Given the description of an element on the screen output the (x, y) to click on. 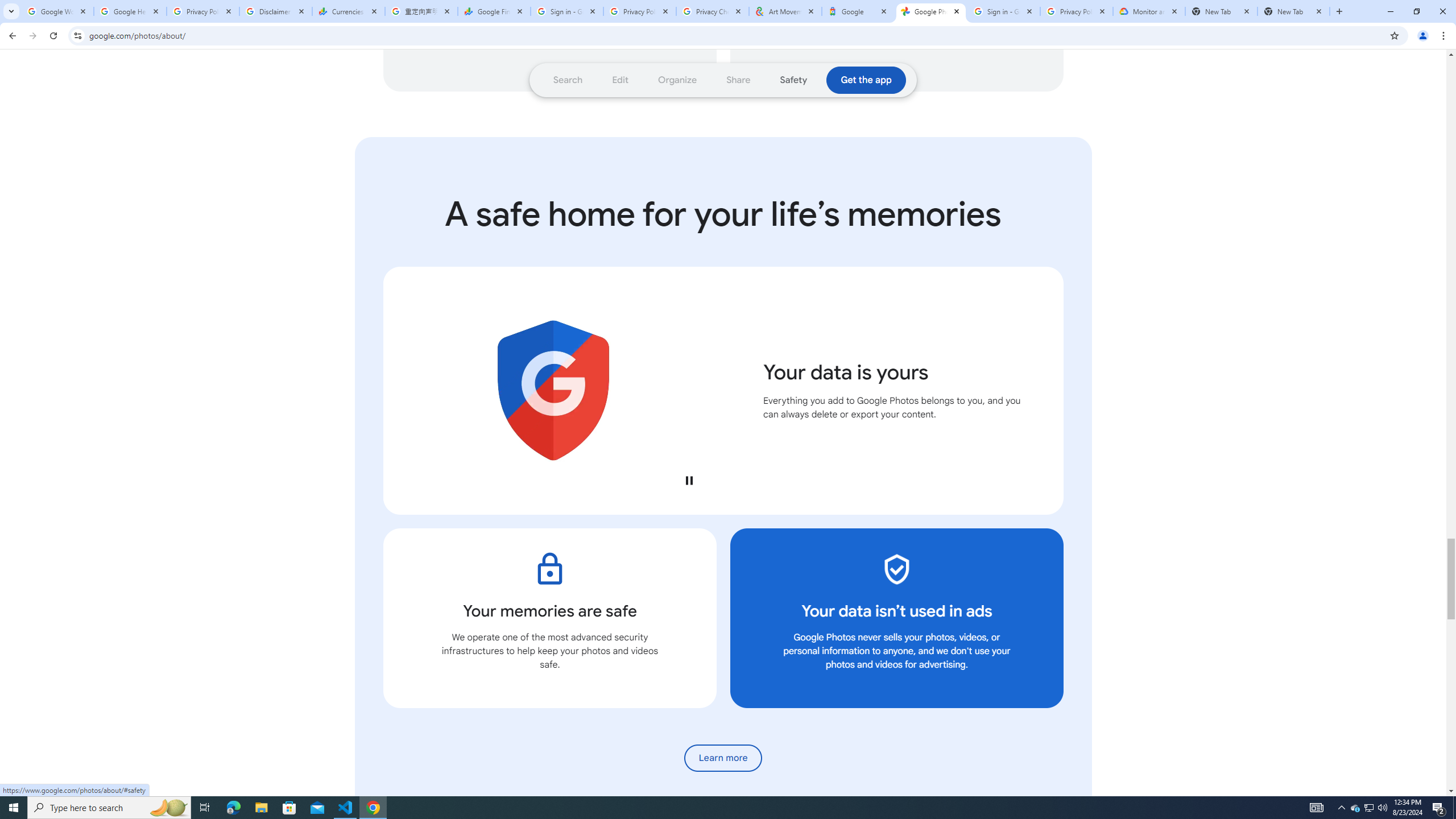
Padlock icon indicating security.  (549, 568)
Google (857, 11)
Go to section: Organize (677, 80)
Currencies - Google Finance (348, 11)
Sign in - Google Accounts (566, 11)
Download the Google Photos app (866, 80)
New Tab (1221, 11)
Go to section: Share (737, 80)
